Given the description of an element on the screen output the (x, y) to click on. 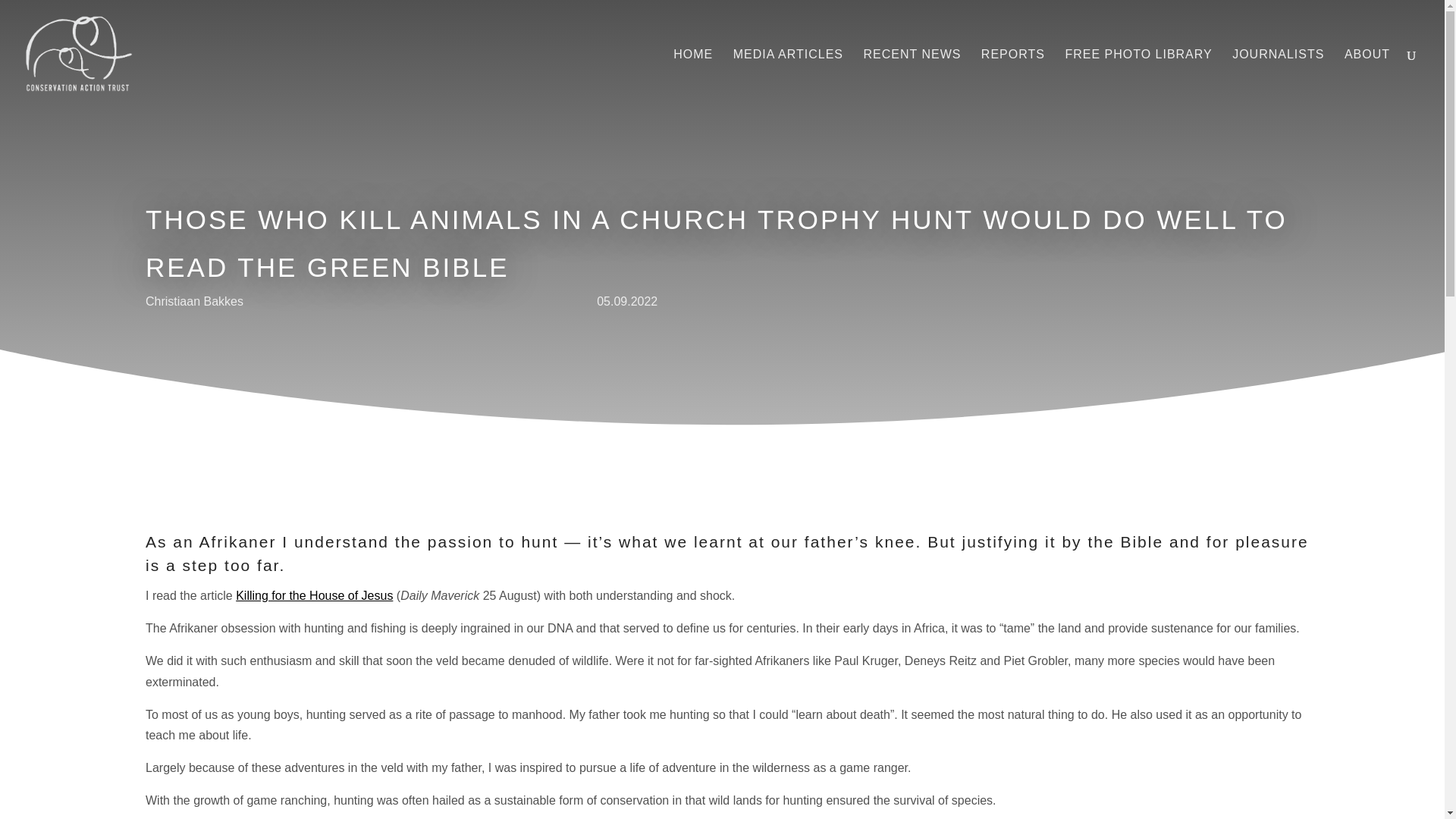
REPORTS (1013, 78)
Killing for the House of Jesus (314, 594)
JOURNALISTS (1277, 78)
FREE PHOTO LIBRARY (1137, 78)
RECENT NEWS (911, 78)
MEDIA ARTICLES (788, 78)
